Given the description of an element on the screen output the (x, y) to click on. 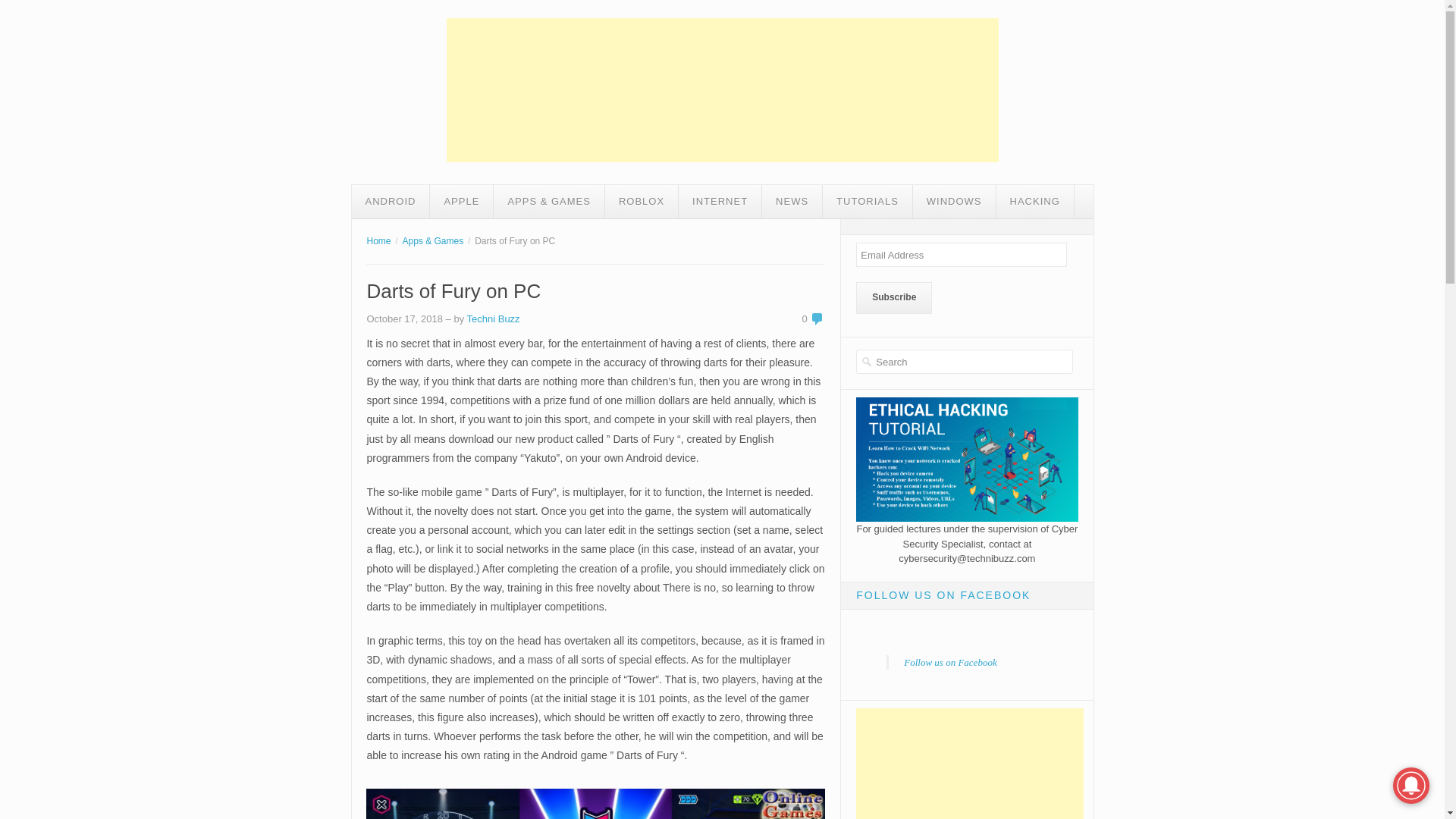
ROBLOX (641, 201)
October 17, 2018 (404, 318)
HACKING (1034, 201)
Techni Buzz (493, 318)
APPLE (461, 201)
WINDOWS (953, 201)
Home (378, 240)
ANDROID (391, 201)
TUTORIALS (867, 201)
Advertisement (721, 90)
NEWS (791, 201)
INTERNET (719, 201)
